Given the description of an element on the screen output the (x, y) to click on. 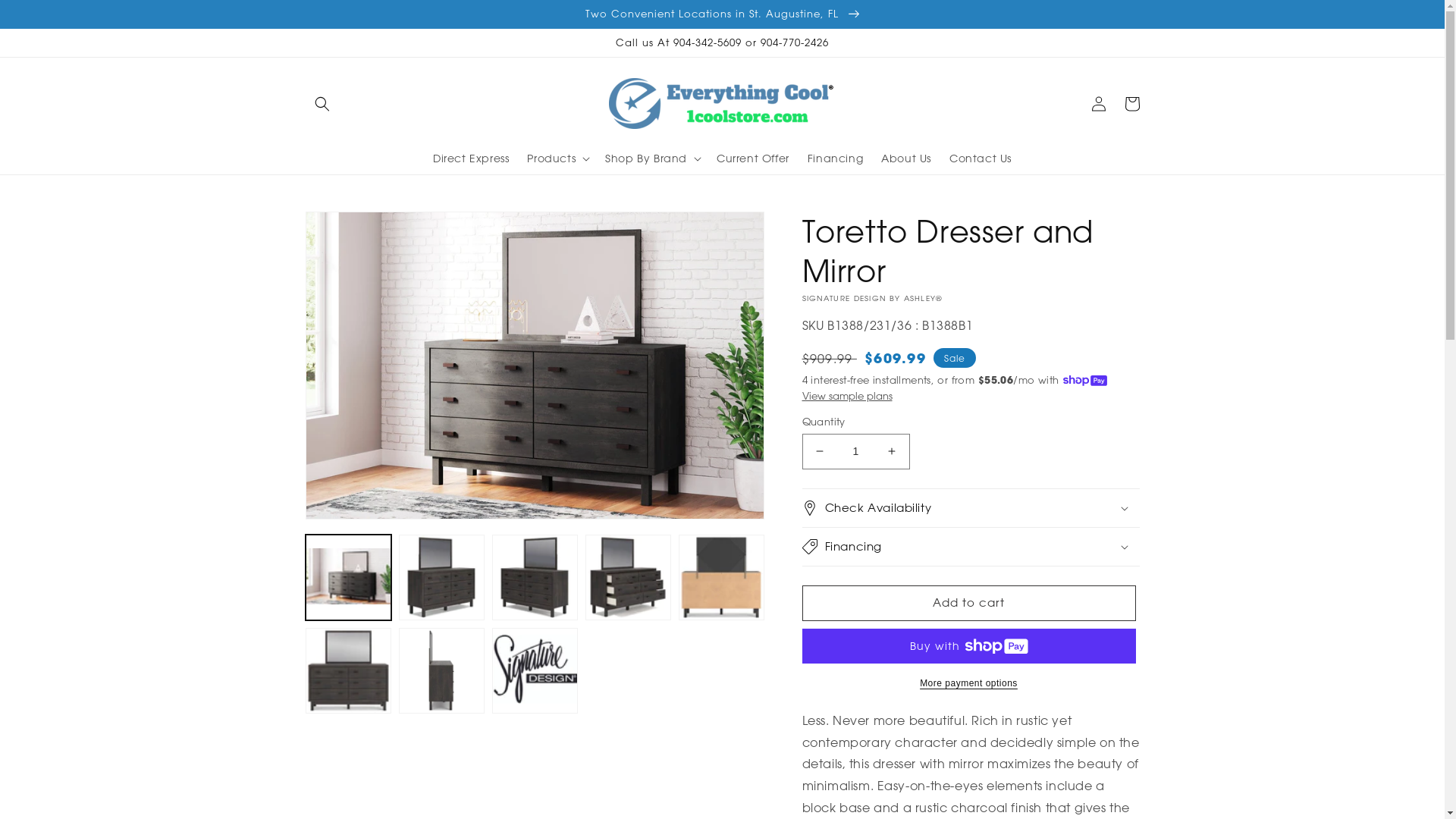
Two Convenient Locations in St. Augustine, FL Element type: text (722, 14)
Log in Element type: text (1097, 103)
Current Offer Element type: text (752, 158)
Decrease quantity for Toretto Dresser and Mirror Element type: text (819, 451)
Add to cart Element type: text (968, 603)
https://www.mysynchrony.com/mmc/GI219389200 Element type: hover (959, 586)
Cart Element type: text (1131, 103)
Financing Element type: text (835, 158)
More payment options Element type: text (968, 682)
About Us Element type: text (906, 158)
Skip to product information Element type: text (350, 228)
Increase quantity for Toretto Dresser and Mirror Element type: text (892, 451)
Direct Express Element type: text (470, 158)
Contact Us Element type: text (980, 158)
